Given the description of an element on the screen output the (x, y) to click on. 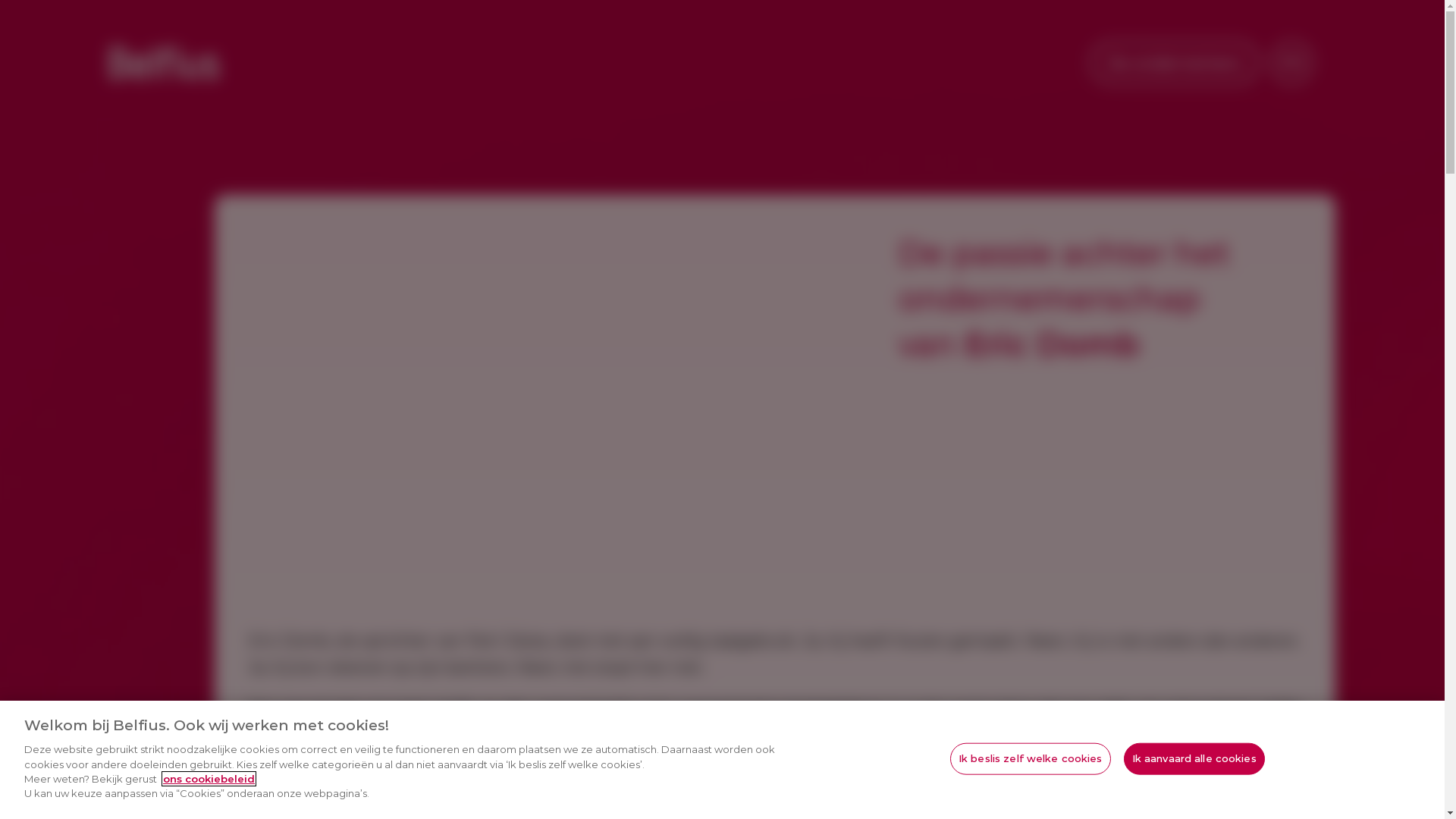
FR Element type: text (1291, 62)
Ik aanvaard alle cookies Element type: text (1193, 759)
YouTube video Element type: hover (479, 372)
De ondernemers Element type: text (1174, 62)
Ik beslis zelf welke cookies Element type: text (1030, 759)
ons cookiebeleid Element type: text (208, 778)
